Given the description of an element on the screen output the (x, y) to click on. 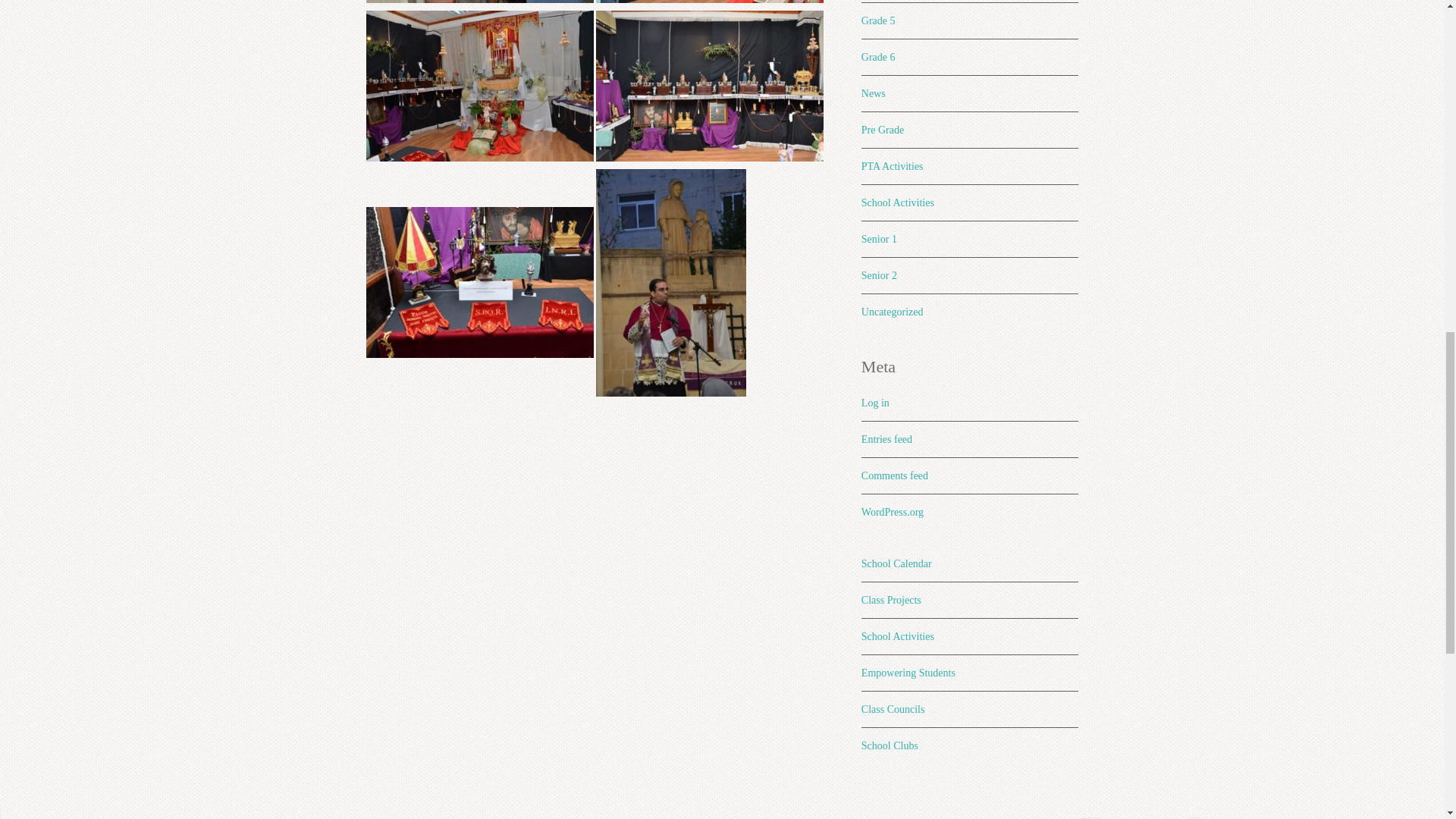
Grade 5 (878, 20)
News (873, 93)
Grade 6 (878, 57)
